Given the description of an element on the screen output the (x, y) to click on. 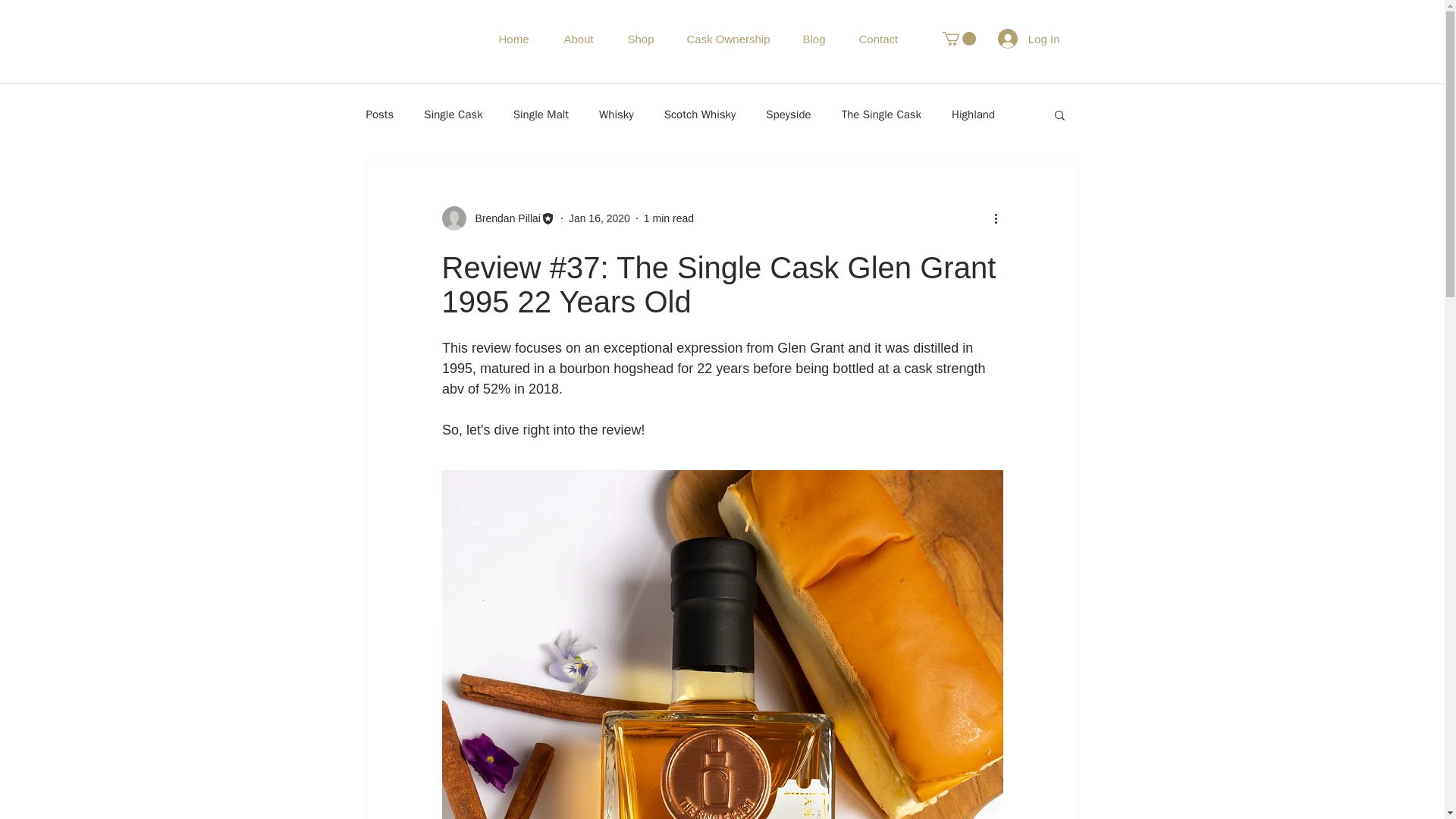
Posts (379, 114)
Log In (1028, 38)
Blog (829, 38)
Brendan Pillai (497, 218)
Single Cask (452, 114)
Jan 16, 2020 (599, 218)
About (594, 38)
Single Malt (541, 114)
Speyside (787, 114)
Scotch Whisky (699, 114)
Home (529, 38)
Highland (973, 114)
Brendan Pillai (502, 218)
1 min read (668, 218)
Cask Ownership (743, 38)
